Given the description of an element on the screen output the (x, y) to click on. 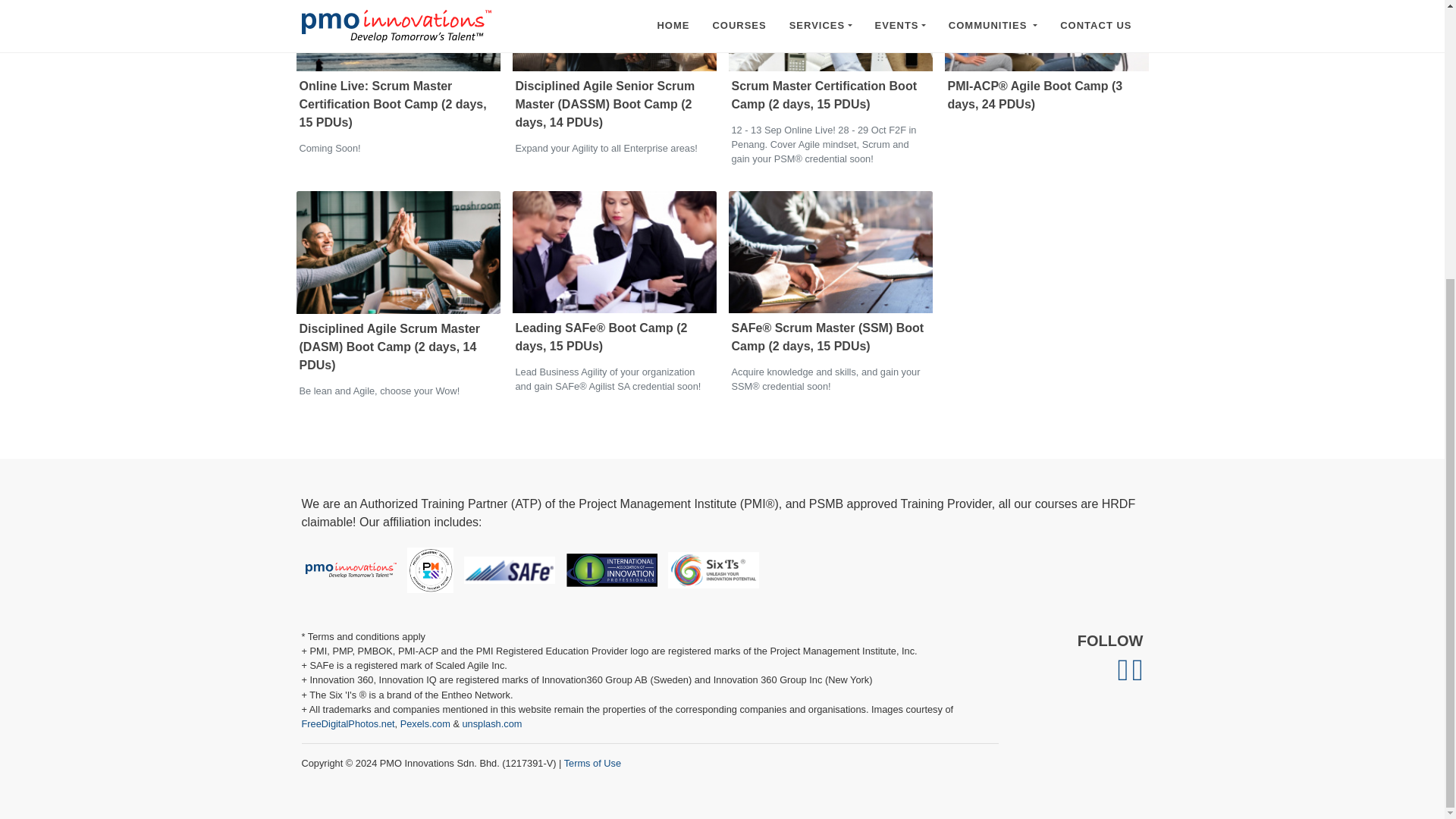
FreeDigitalPhotos.net (347, 723)
